Given the description of an element on the screen output the (x, y) to click on. 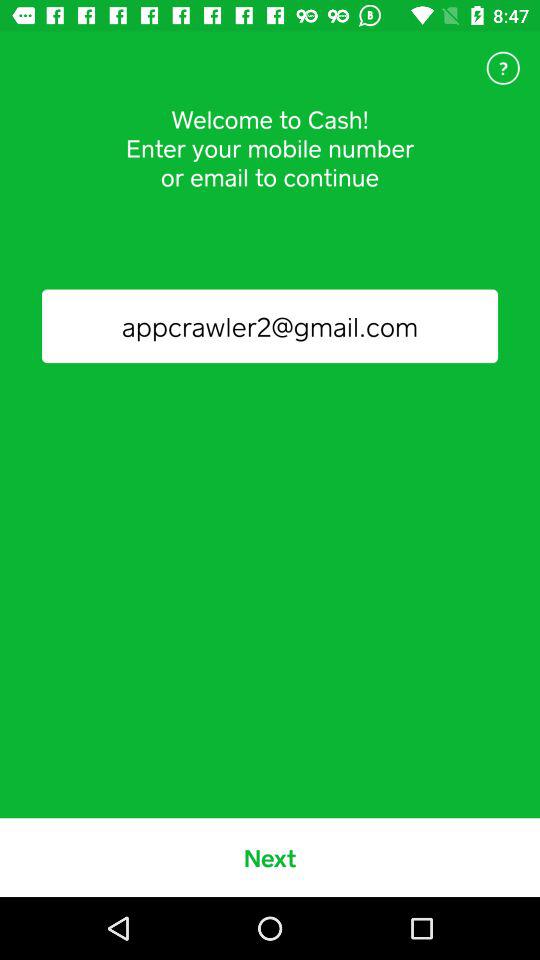
select the item next to welcome to cash item (503, 68)
